Given the description of an element on the screen output the (x, y) to click on. 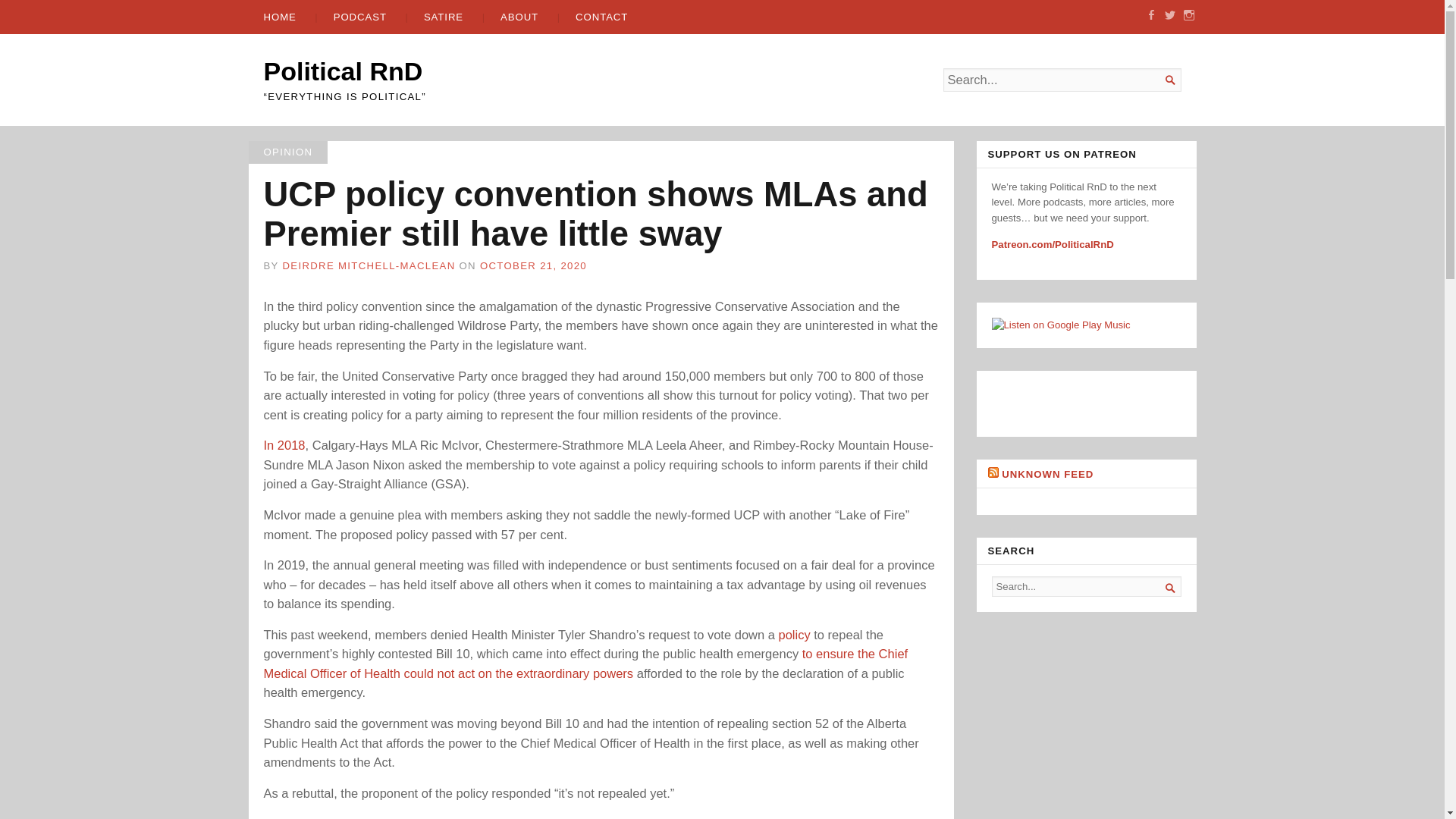
ABOUT (510, 17)
UNKNOWN FEED (1047, 473)
OPINION (288, 151)
PODCAST (350, 17)
OCTOBER 21, 2020 (533, 265)
SATIRE (434, 17)
In 2018 (284, 445)
Political RnD (343, 70)
CONTACT (593, 17)
Home (343, 70)
4:23 pm (533, 265)
HOME (280, 17)
policy (793, 634)
View all posts by Deirdre Mitchell-MacLean (368, 265)
